Given the description of an element on the screen output the (x, y) to click on. 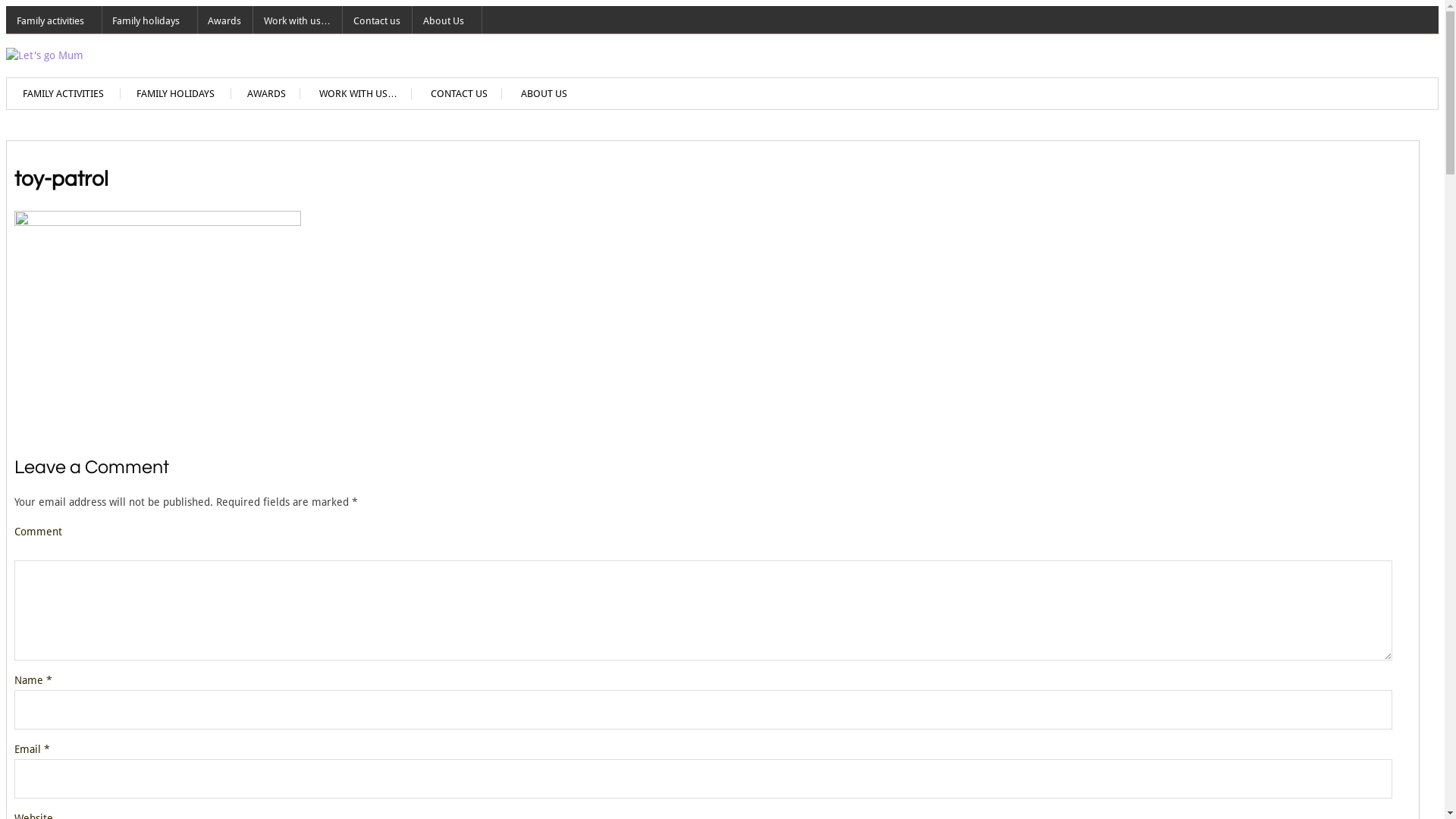
ABOUT US Element type: text (544, 93)
Awards Element type: text (225, 19)
Family holidays Element type: text (149, 19)
About Us Element type: text (447, 19)
FAMILY ACTIVITIES Element type: text (62, 93)
CONTACT US Element type: text (458, 93)
FAMILY HOLIDAYS Element type: text (175, 93)
Contact us Element type: text (377, 19)
toy-patrol Element type: hover (157, 222)
Family activities Element type: text (54, 19)
AWARDS Element type: text (266, 93)
